Given the description of an element on the screen output the (x, y) to click on. 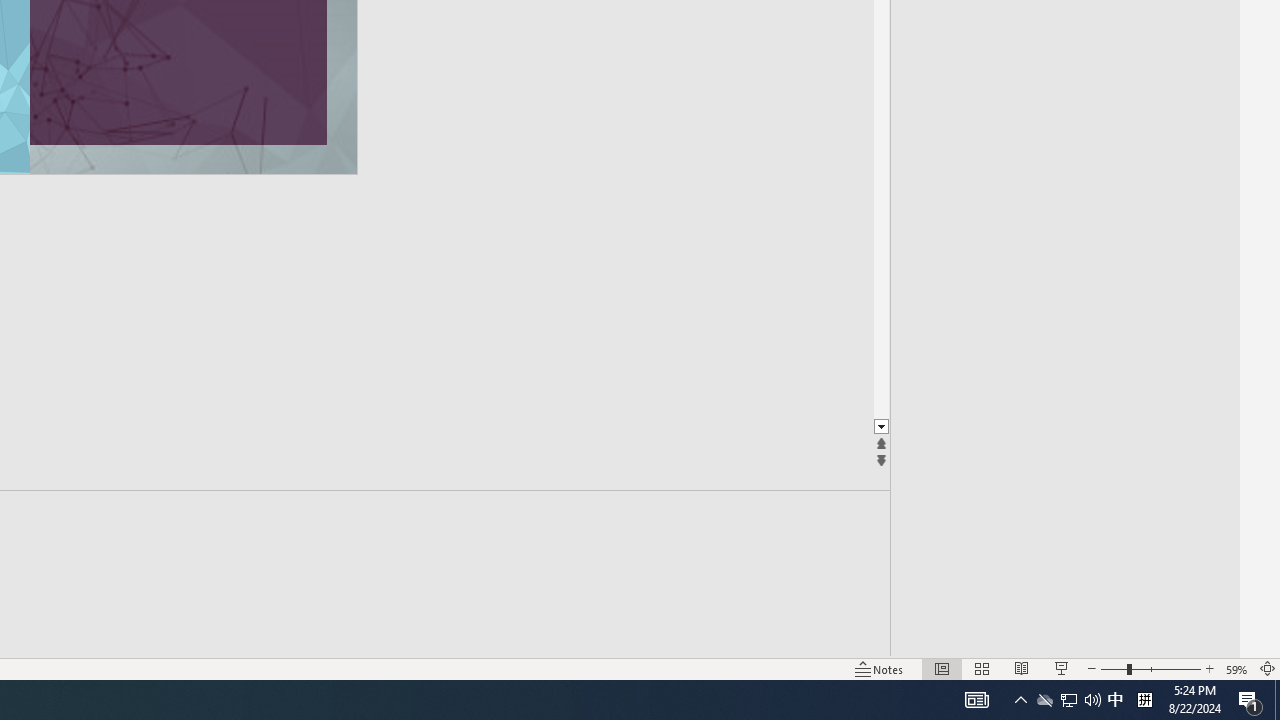
Zoom 59% (1236, 668)
